Given the description of an element on the screen output the (x, y) to click on. 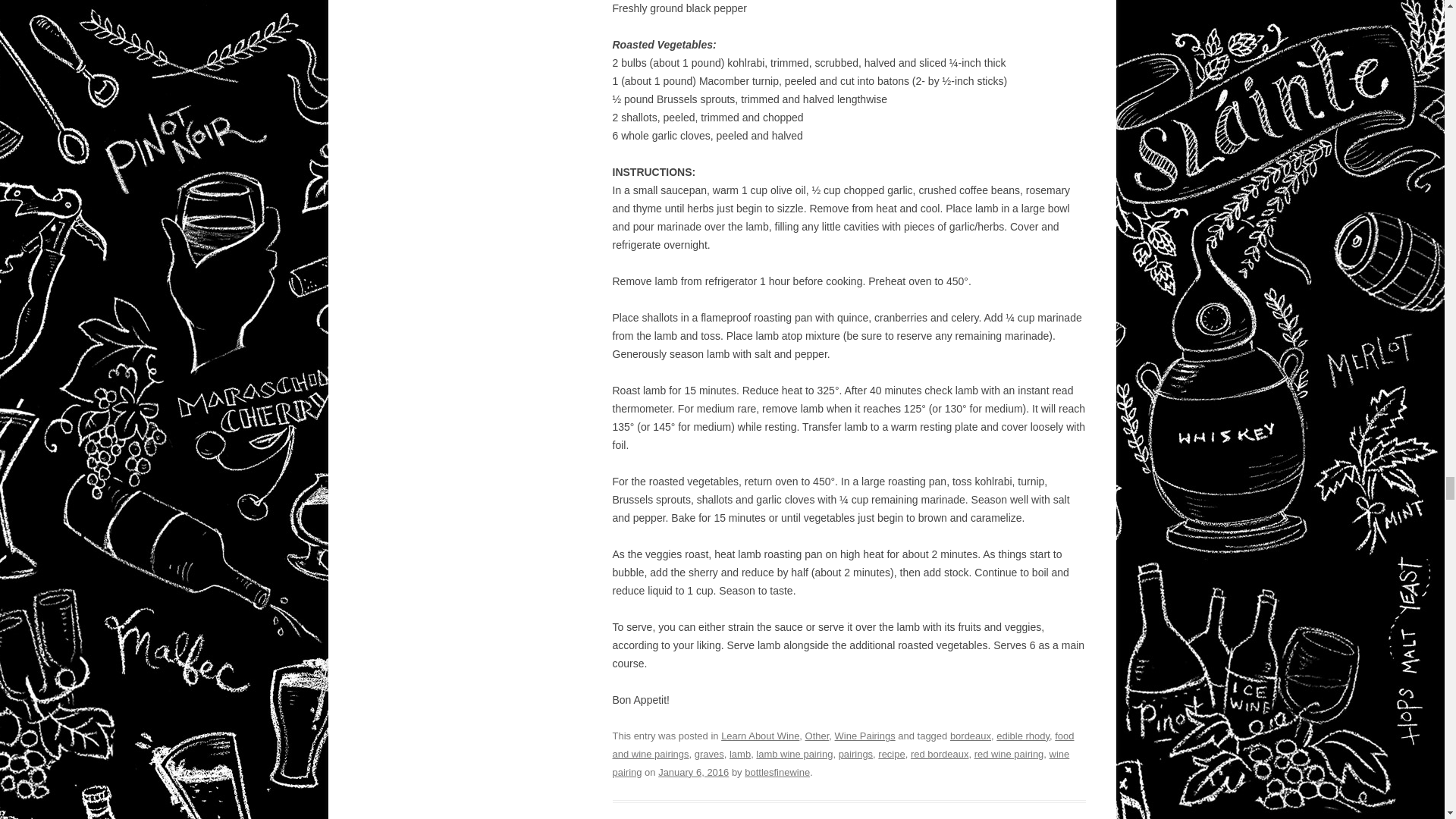
View all posts by bottlesfinewine (776, 772)
4:00 PM (693, 772)
